Given the description of an element on the screen output the (x, y) to click on. 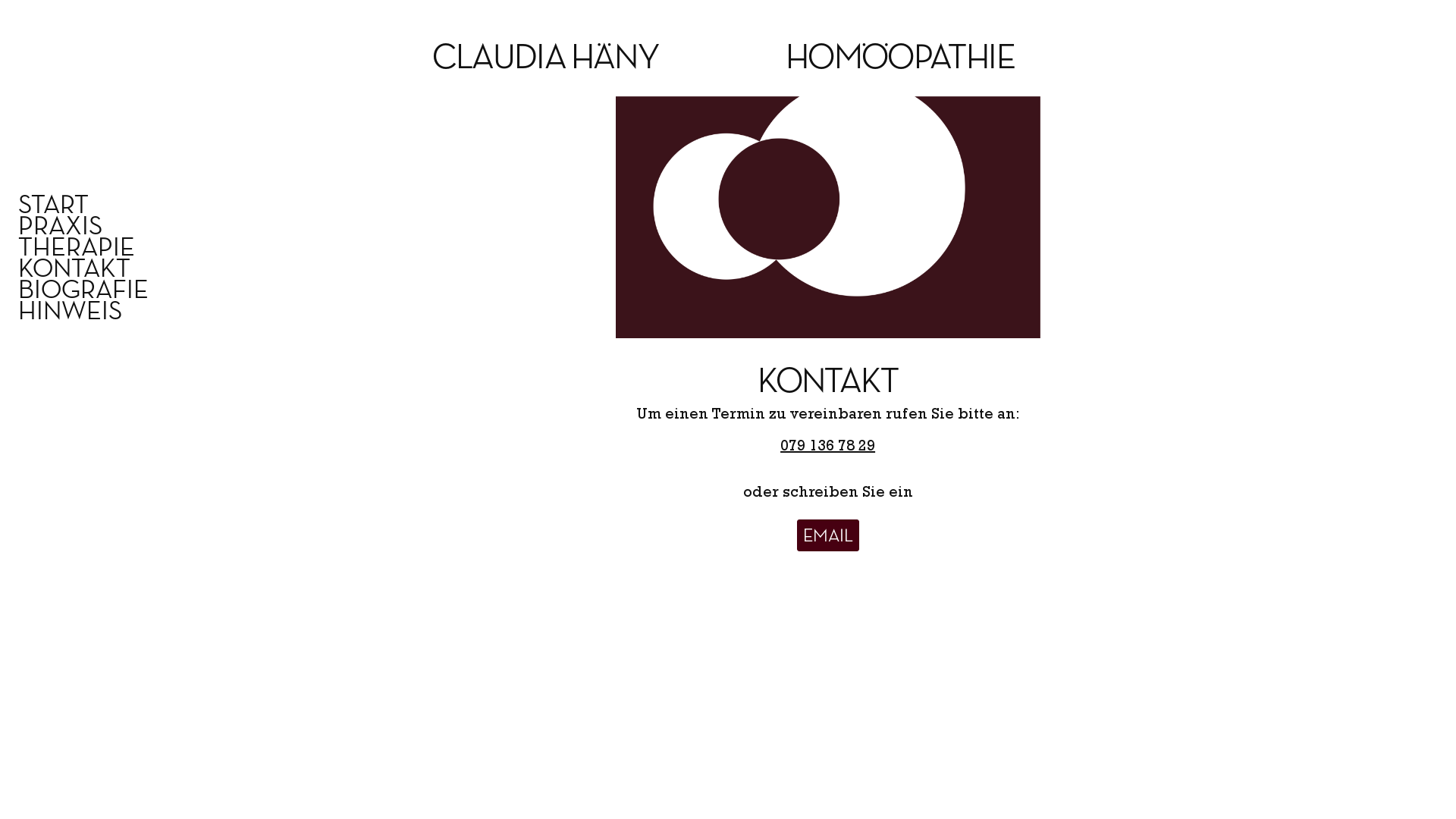
EMAIL Element type: text (828, 535)
079 136 78 29 Element type: text (827, 444)
KONTAKT Element type: text (106, 269)
HINWEIS Element type: text (106, 312)
PRAXIS Element type: text (106, 227)
START Element type: text (106, 205)
BIOGRAFIE Element type: text (106, 290)
THERAPIE Element type: text (106, 248)
